Given the description of an element on the screen output the (x, y) to click on. 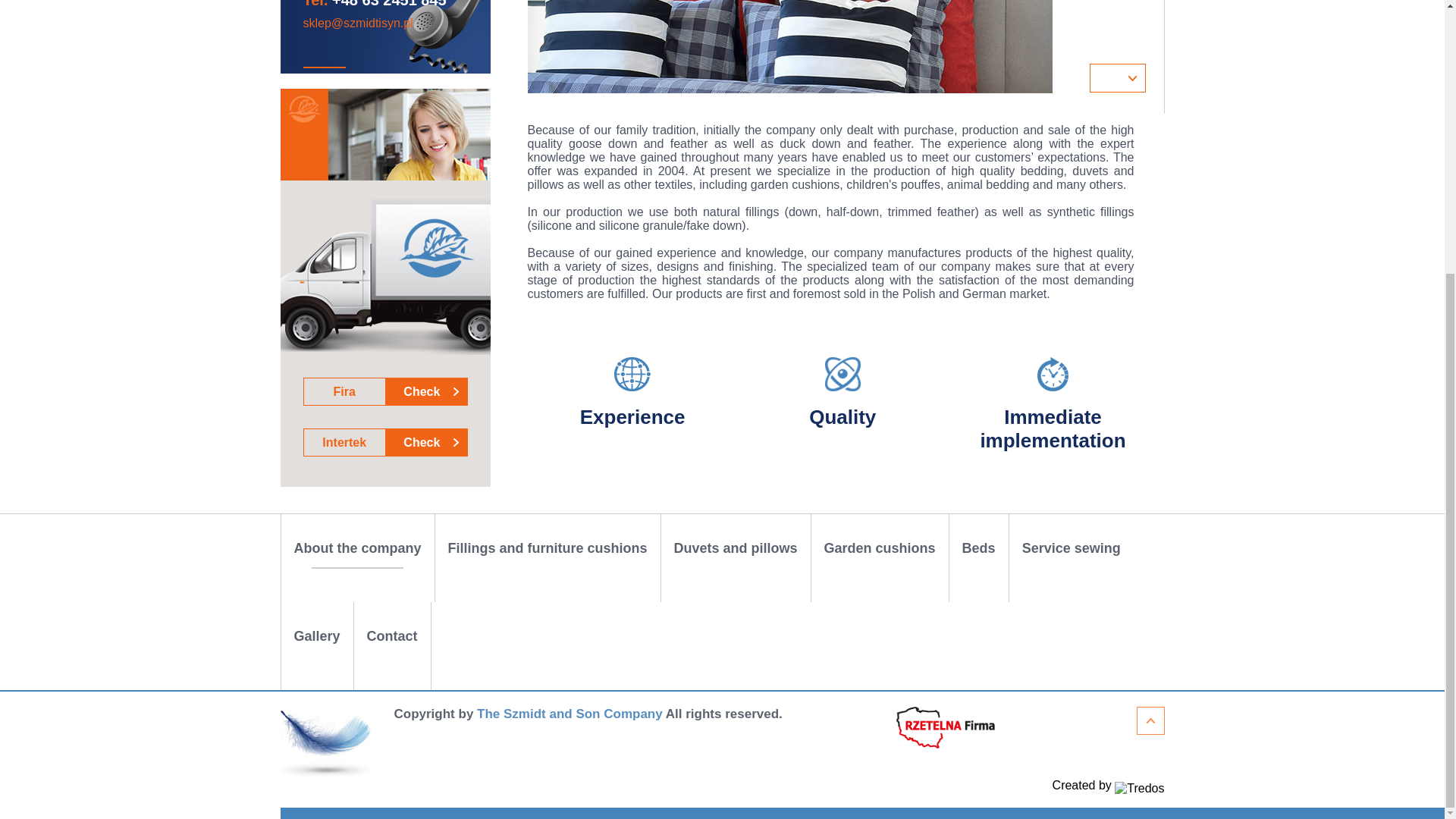
Duvets and pillows (735, 557)
About the company (357, 557)
Fillings and furniture cushions (384, 391)
Garden cushions (547, 557)
Service sewing (879, 557)
